Given the description of an element on the screen output the (x, y) to click on. 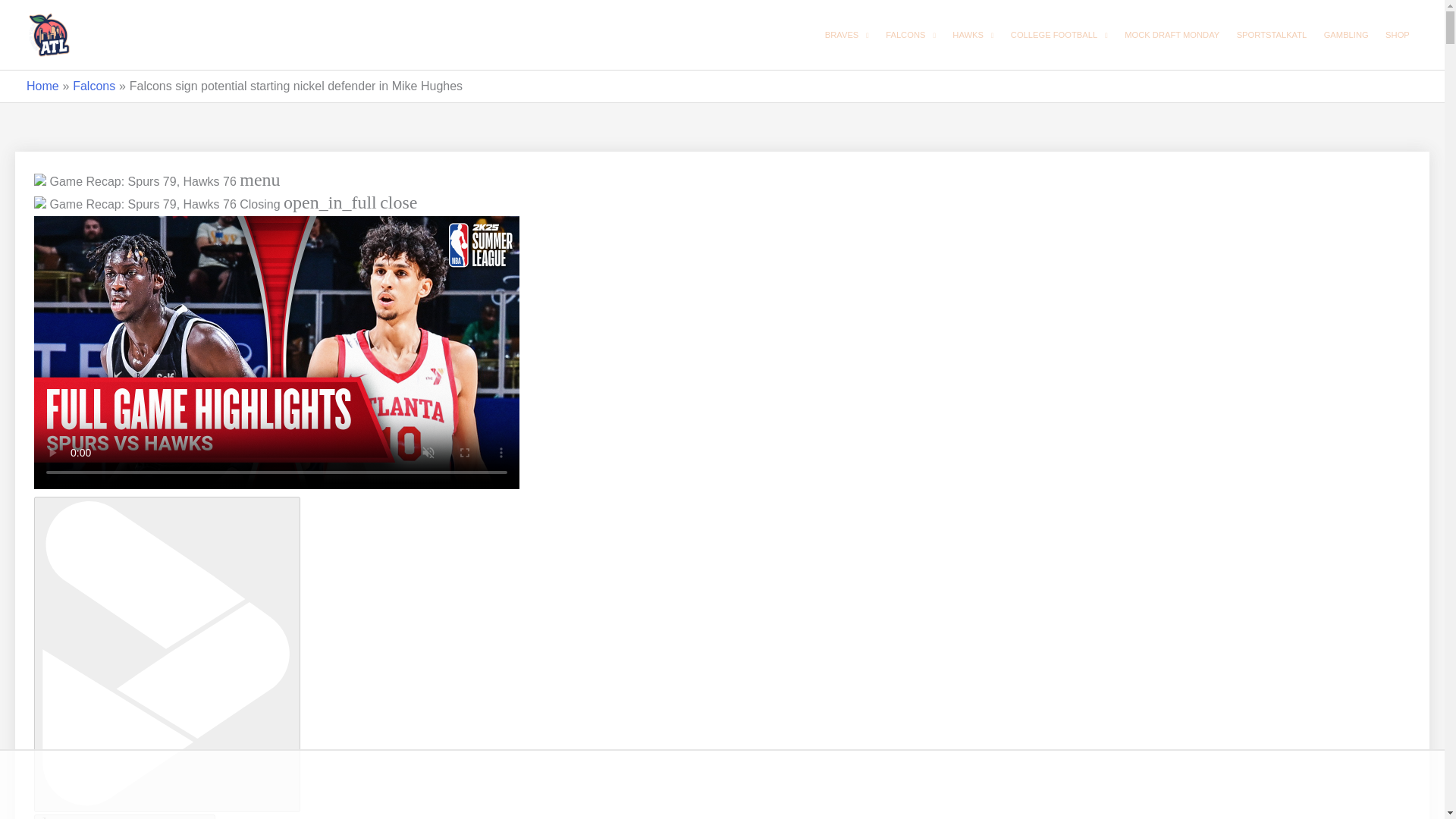
MOCK DRAFT MONDAY (1172, 34)
FALCONS (910, 34)
SPORTSTALKATL (1270, 34)
COLLEGE FOOTBALL (1059, 34)
